Given the description of an element on the screen output the (x, y) to click on. 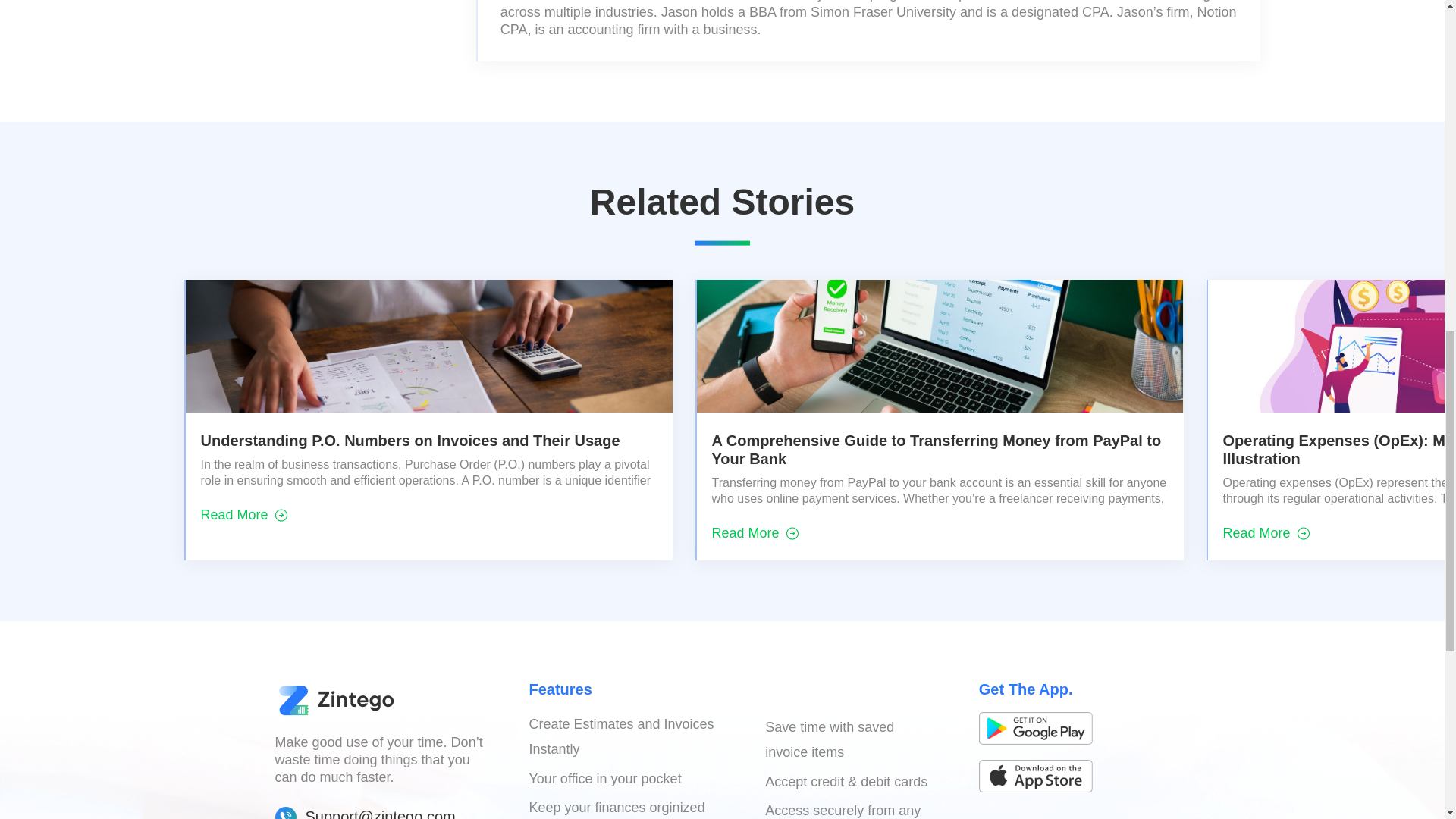
Understanding P.O. Numbers on Invoices and Their Usage (410, 440)
Read More (243, 515)
